Given the description of an element on the screen output the (x, y) to click on. 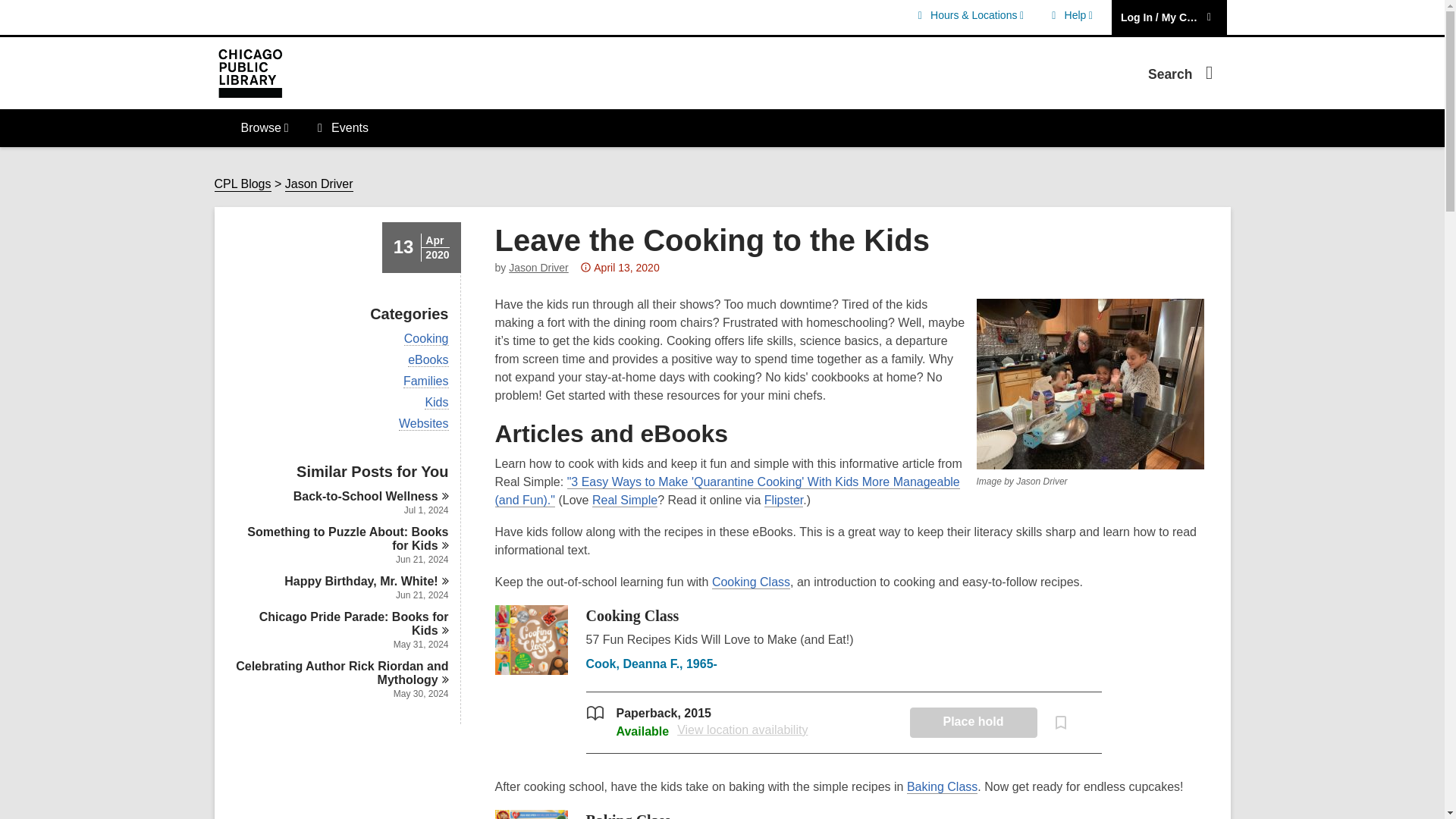
Search (1069, 15)
